Given the description of an element on the screen output the (x, y) to click on. 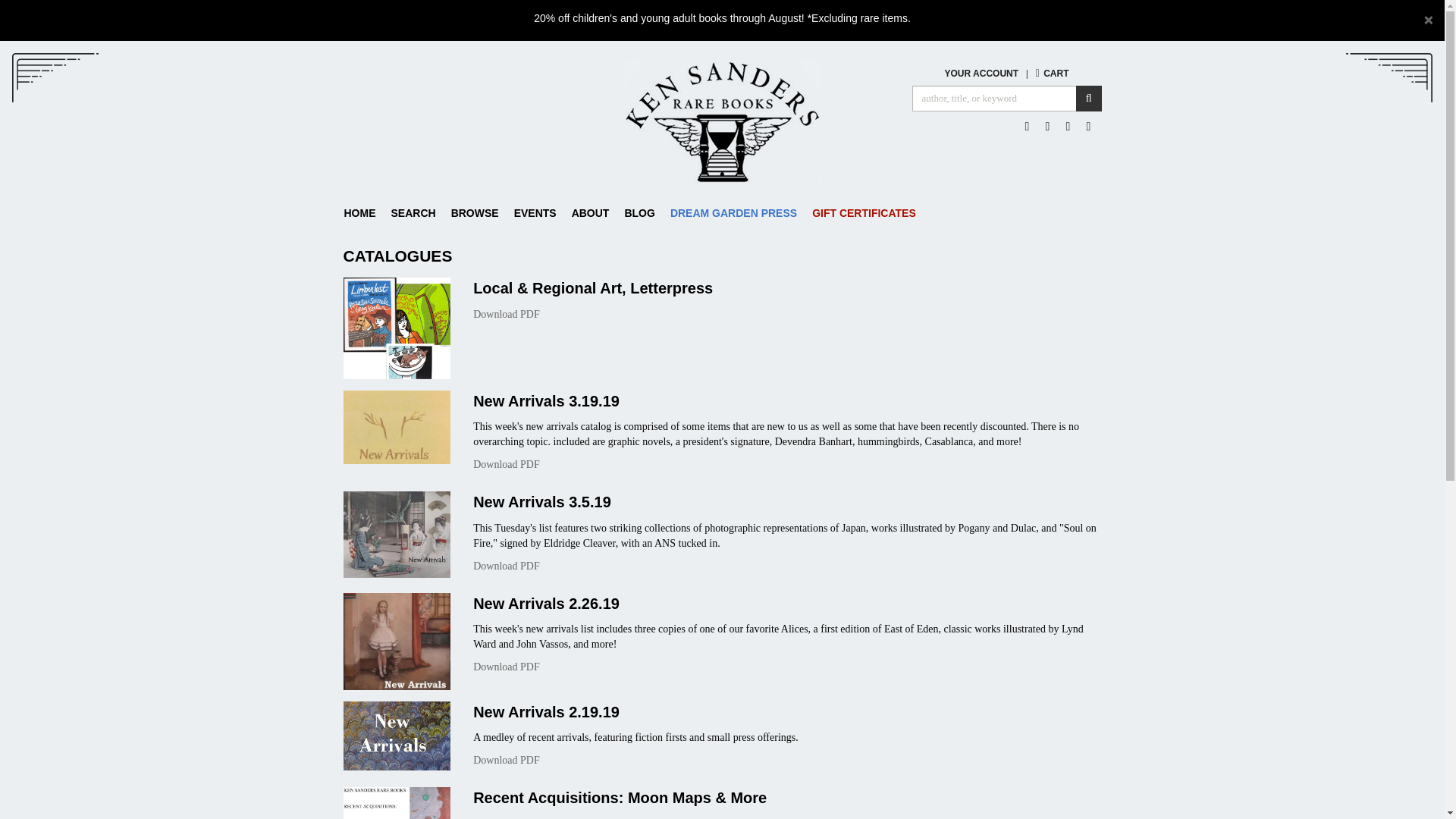
Find on Facebook (1026, 126)
SUBMIT SEARCH (1088, 98)
HOME (363, 212)
Ken Sanders Rare Books (721, 121)
Follow on Twitter (1048, 126)
Skip to main content (8, 48)
Follow on Instagram (1088, 126)
SEARCH (414, 212)
CART (1051, 72)
BROWSE (475, 212)
